Given the description of an element on the screen output the (x, y) to click on. 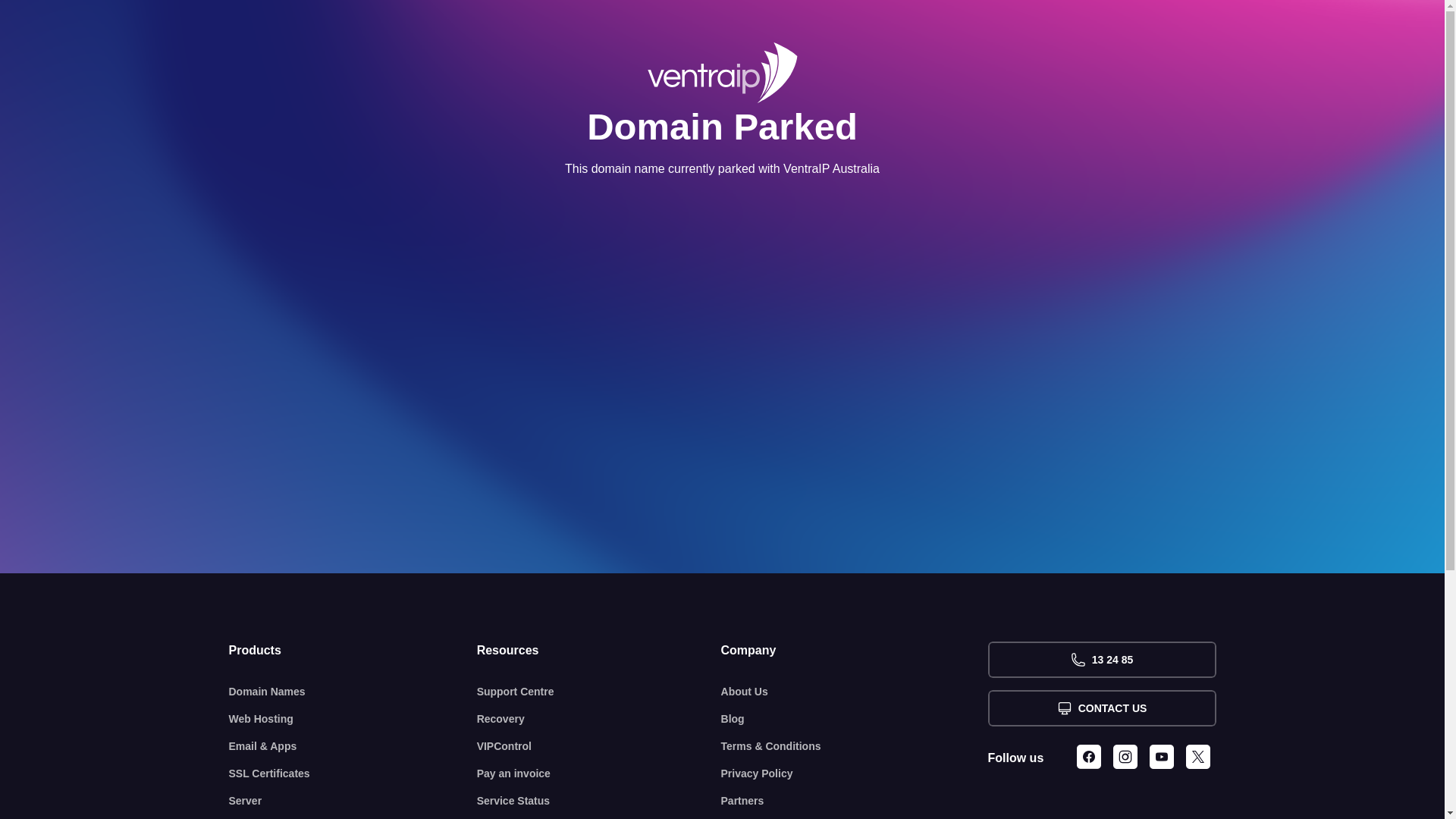
13 24 85 Element type: text (1101, 659)
Support Centre Element type: text (598, 691)
Web Hosting Element type: text (352, 718)
Domain Names Element type: text (352, 691)
About Us Element type: text (854, 691)
VIPControl Element type: text (598, 745)
SSL Certificates Element type: text (352, 773)
Terms & Conditions Element type: text (854, 745)
Blog Element type: text (854, 718)
Email & Apps Element type: text (352, 745)
Partners Element type: text (854, 800)
Pay an invoice Element type: text (598, 773)
Privacy Policy Element type: text (854, 773)
Service Status Element type: text (598, 800)
CONTACT US Element type: text (1101, 708)
Recovery Element type: text (598, 718)
Server Element type: text (352, 800)
